Given the description of an element on the screen output the (x, y) to click on. 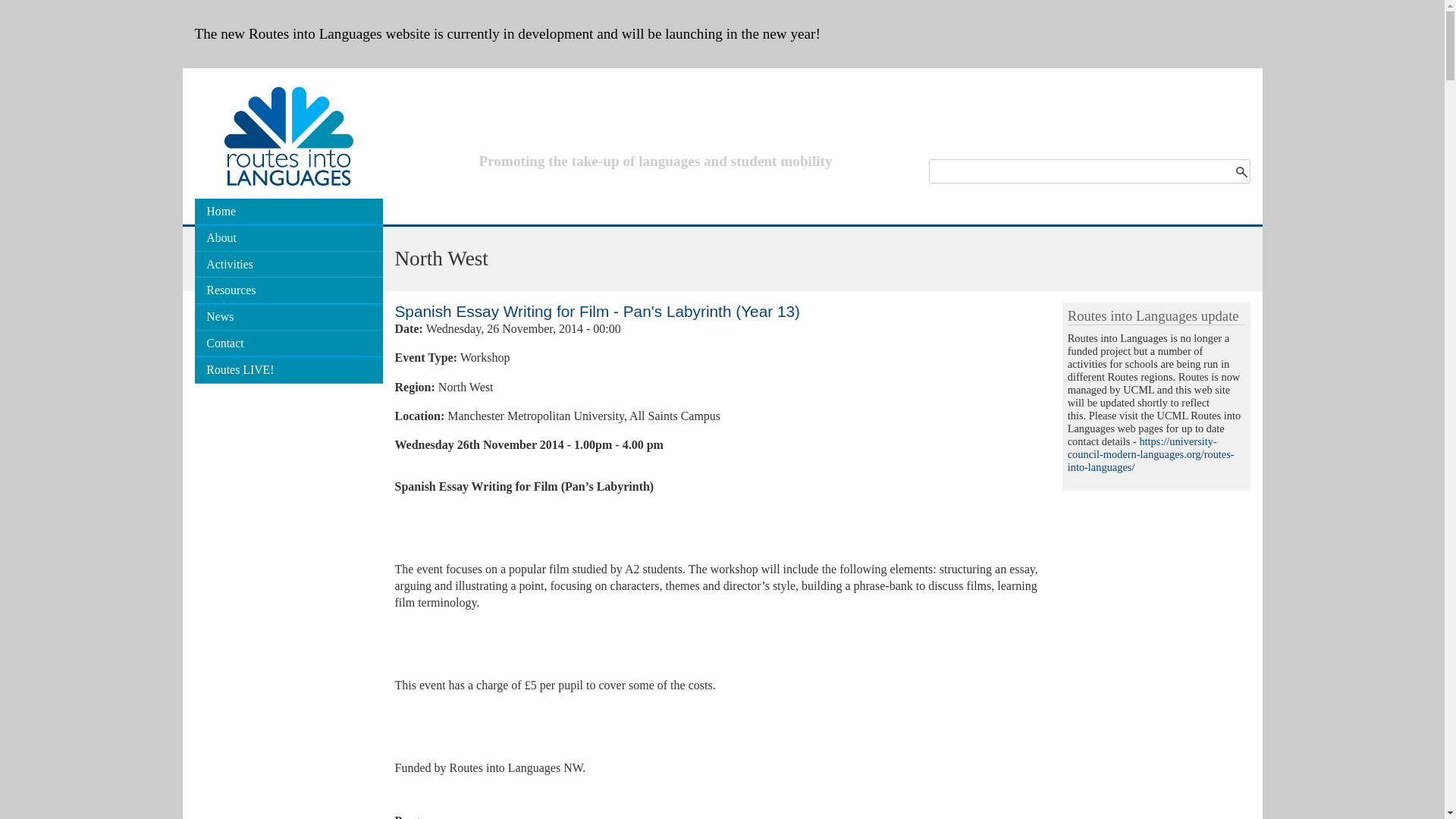
Enter the terms you wish to search for. (1088, 170)
Routes LIVE! (287, 370)
Home (288, 205)
About (287, 238)
Resources (287, 290)
News (287, 316)
Activities (287, 264)
Contact (287, 343)
Home (287, 212)
